Given the description of an element on the screen output the (x, y) to click on. 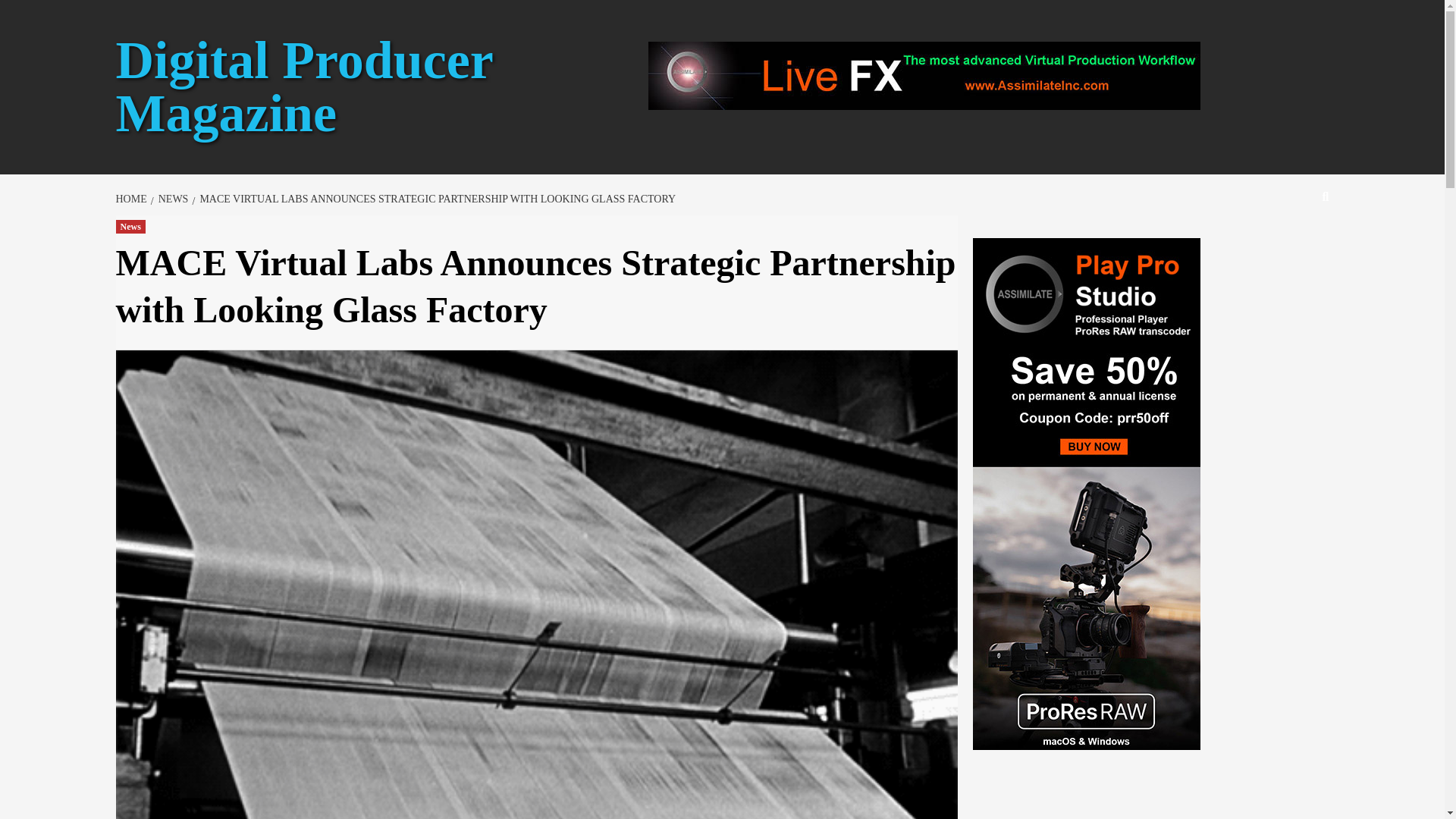
News (129, 226)
NEWS (171, 198)
HOME (132, 198)
Digital Producer Magazine (303, 86)
